Given the description of an element on the screen output the (x, y) to click on. 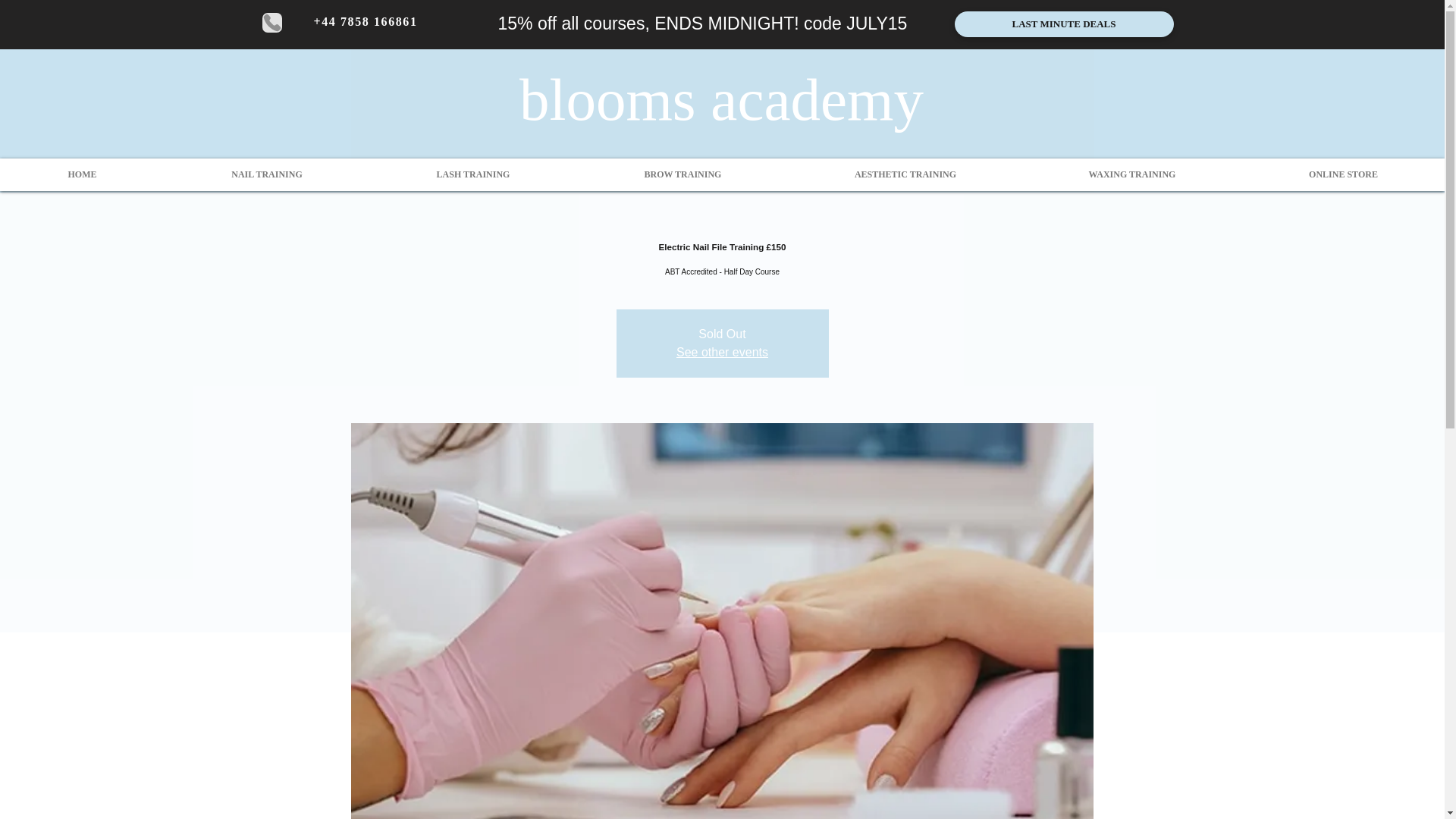
HOME (82, 174)
LAST MINUTE DEALS (1063, 23)
See other events (722, 351)
blooms academy (721, 98)
